Given the description of an element on the screen output the (x, y) to click on. 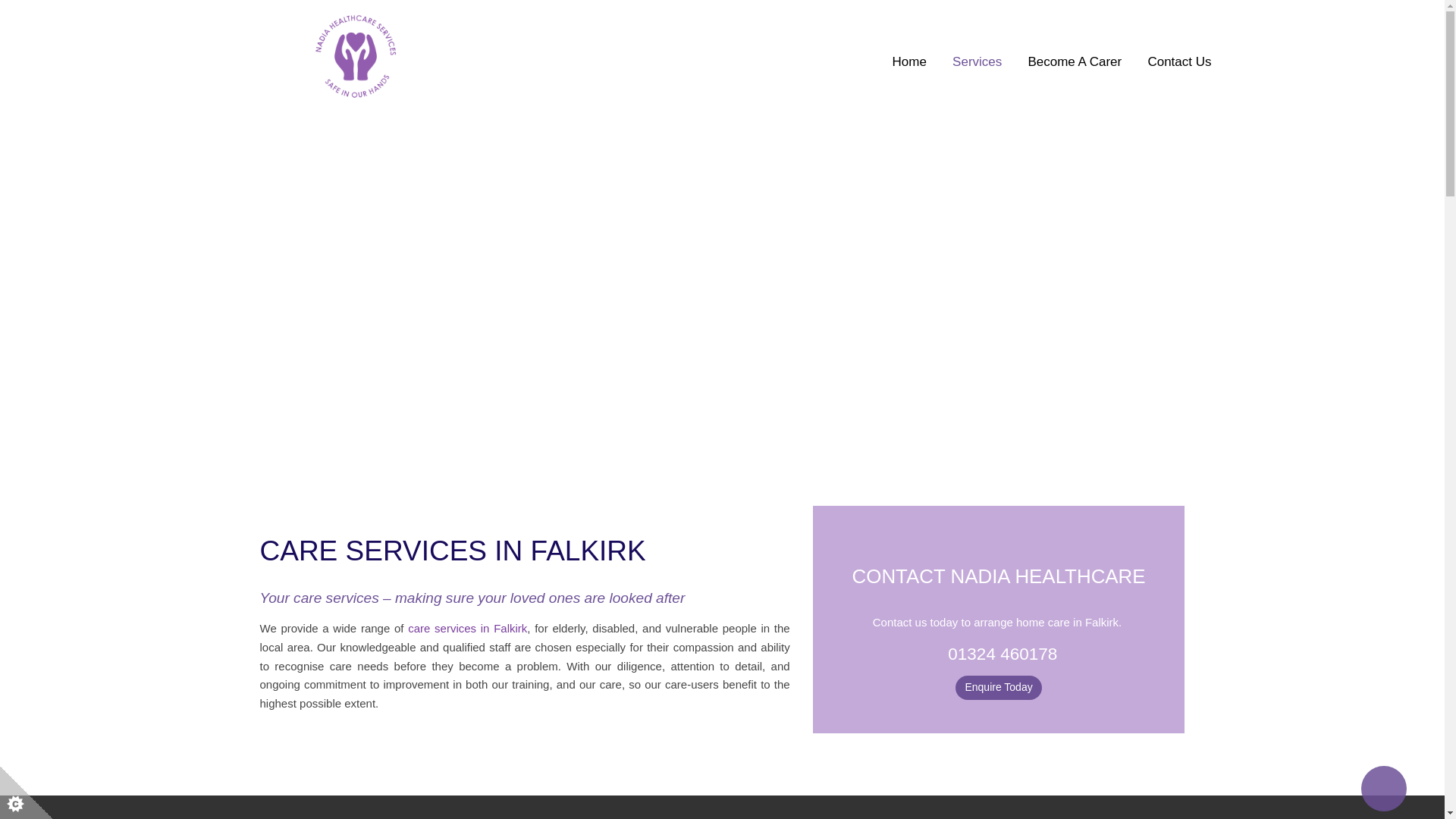
01324 460178 (1002, 653)
Services (976, 62)
Enquire Today (998, 687)
Contact Us (1179, 62)
home care in Falkirk (1067, 621)
Become A Carer (1074, 62)
Cookie Control (26, 792)
care services in Falkirk (467, 627)
